Given the description of an element on the screen output the (x, y) to click on. 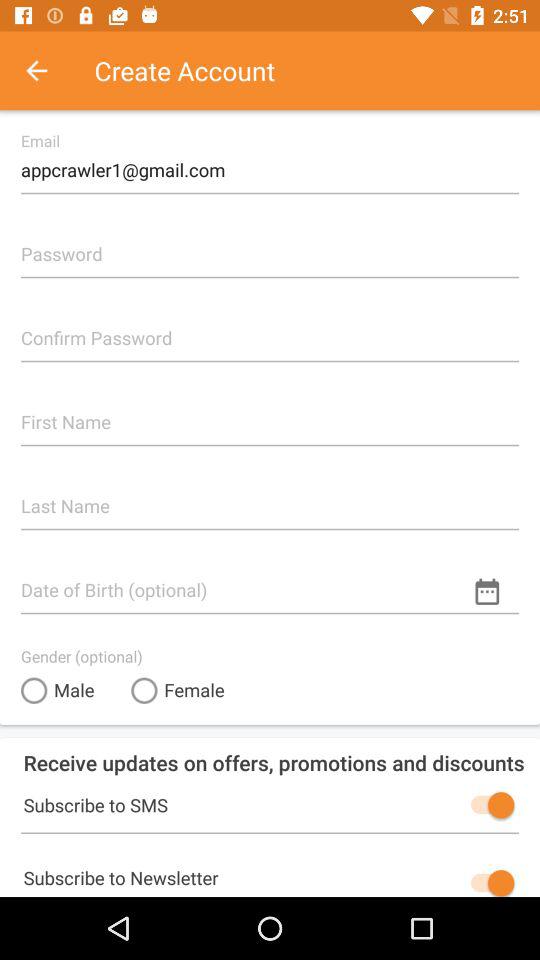
space for password (270, 245)
